Given the description of an element on the screen output the (x, y) to click on. 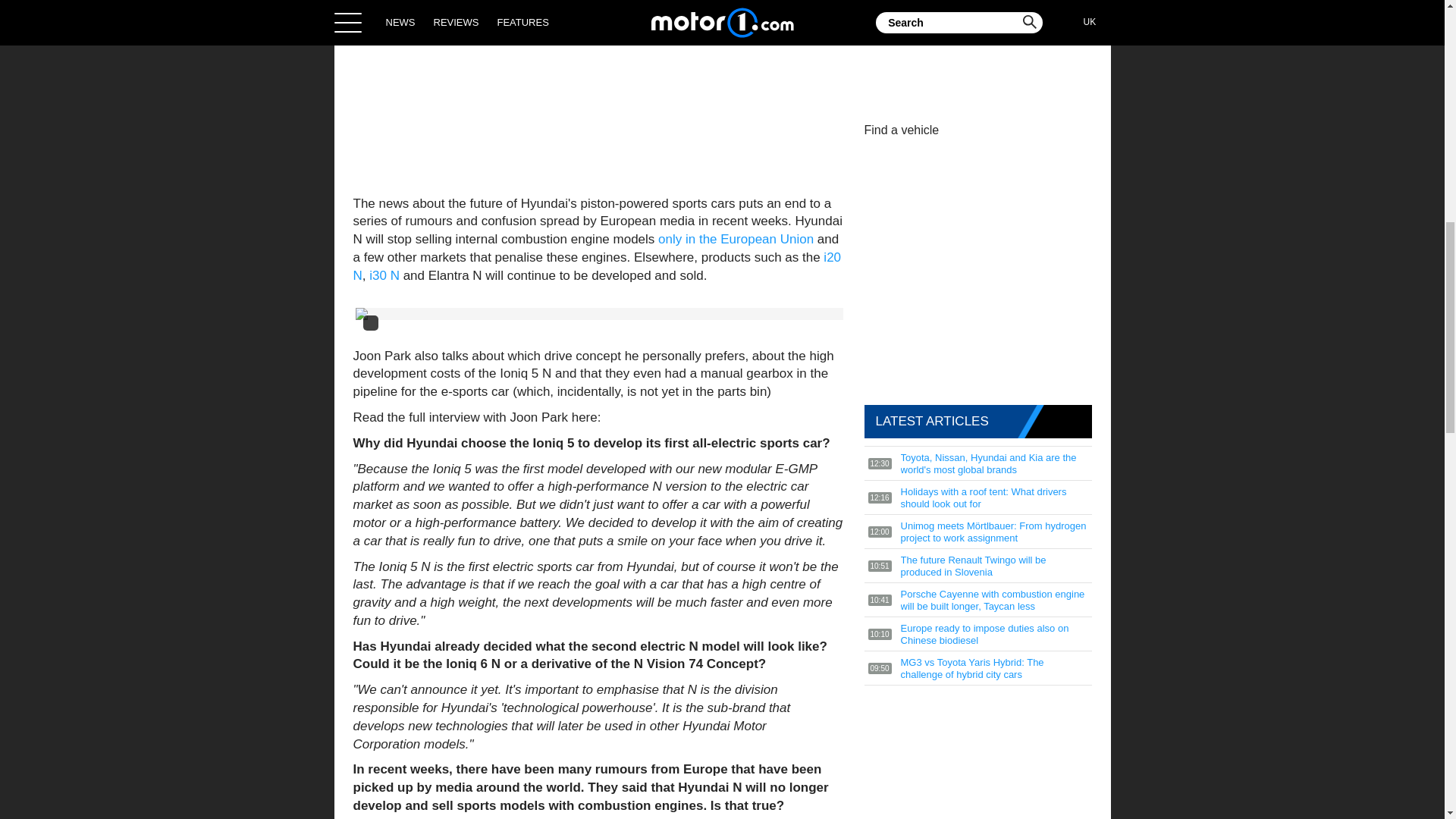
i30 N (383, 275)
only in the European Union (735, 238)
i20 N (597, 266)
